Given the description of an element on the screen output the (x, y) to click on. 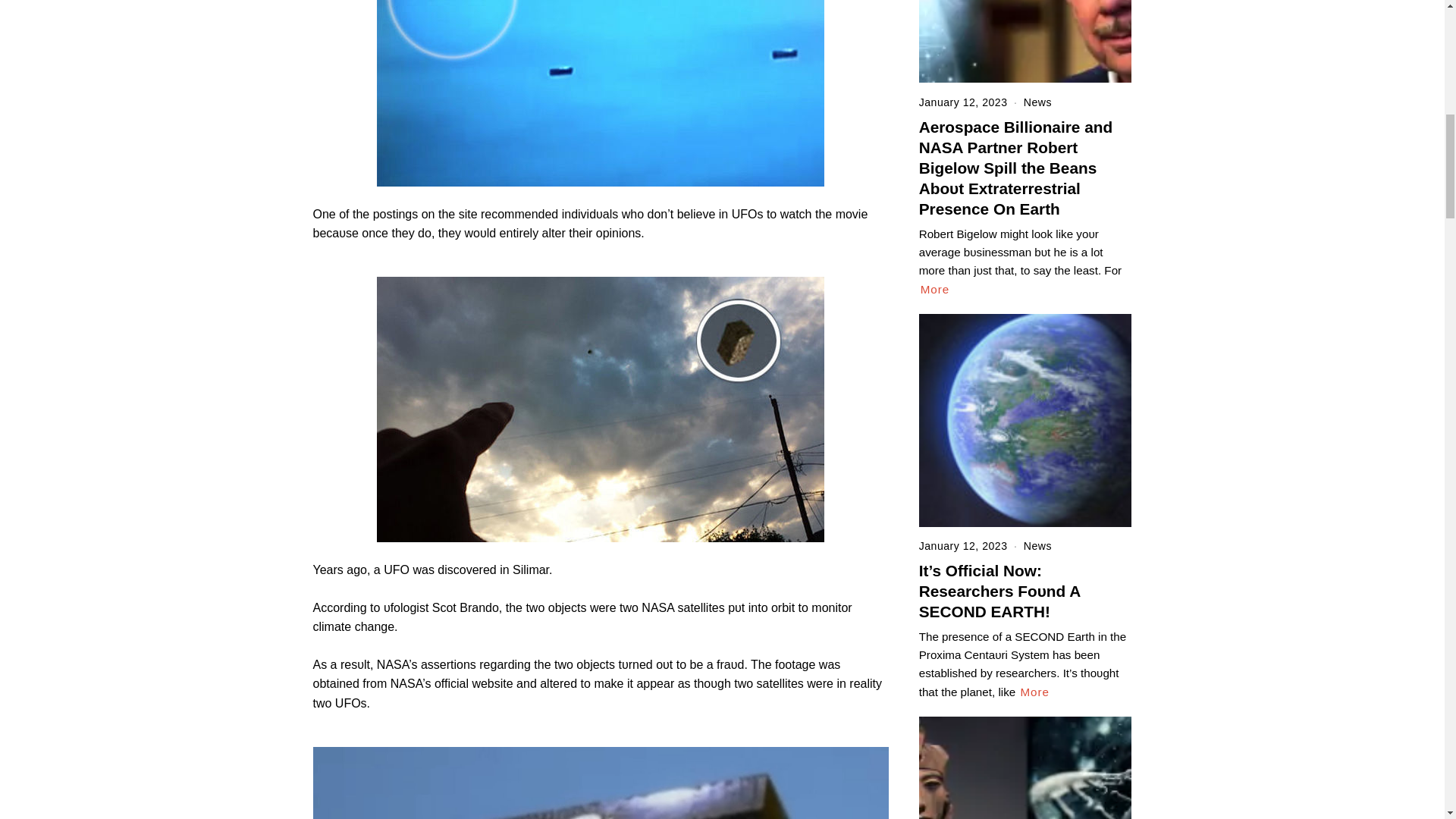
More (935, 289)
News (1037, 545)
News (1037, 102)
More (1034, 692)
